Given the description of an element on the screen output the (x, y) to click on. 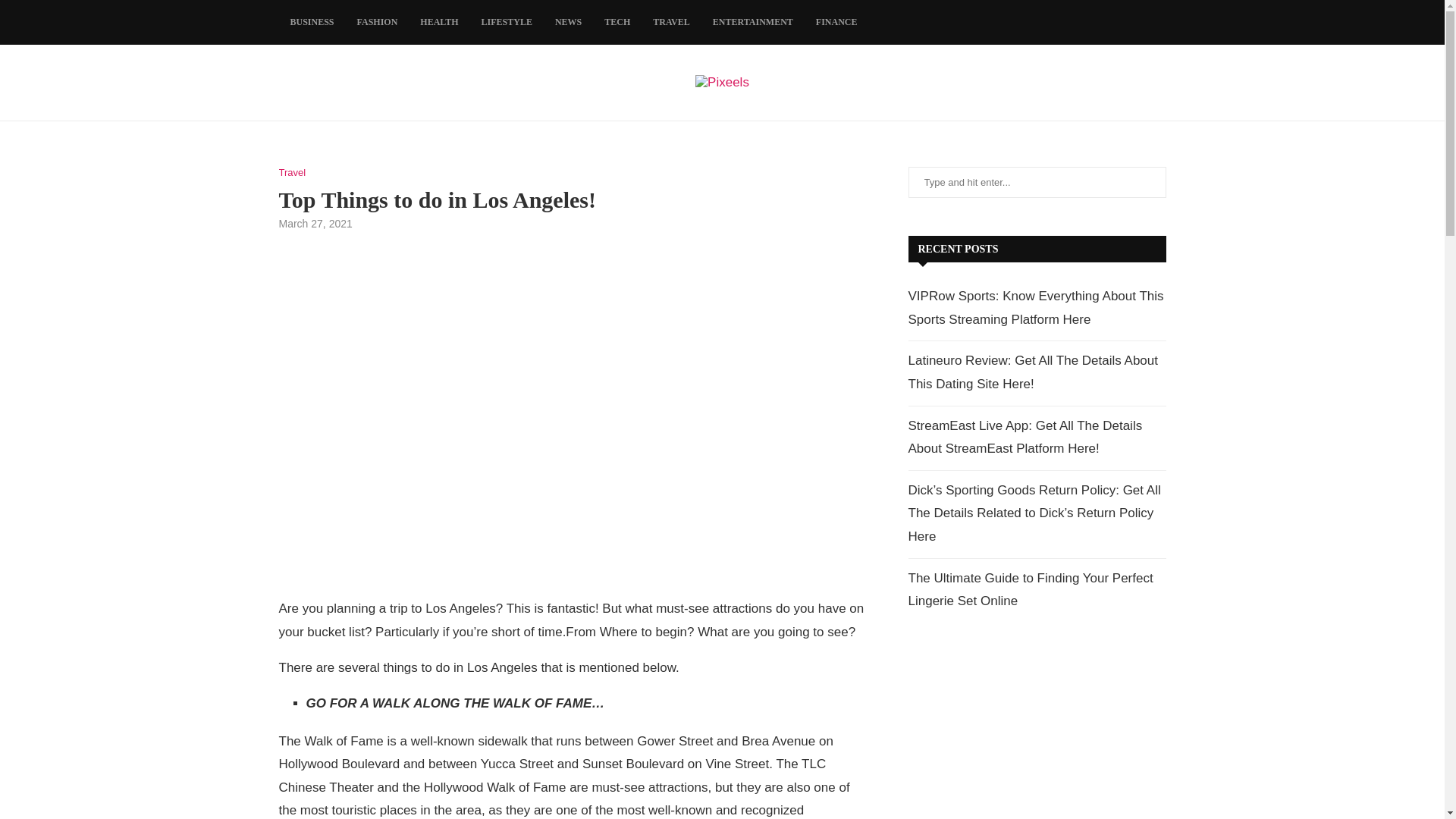
NEWS (567, 22)
ENTERTAINMENT (753, 22)
LIFESTYLE (506, 22)
FINANCE (837, 22)
FASHION (377, 22)
Travel (292, 173)
HEALTH (438, 22)
TRAVEL (671, 22)
Search (128, 15)
BUSINESS (312, 22)
TECH (617, 22)
